Given the description of an element on the screen output the (x, y) to click on. 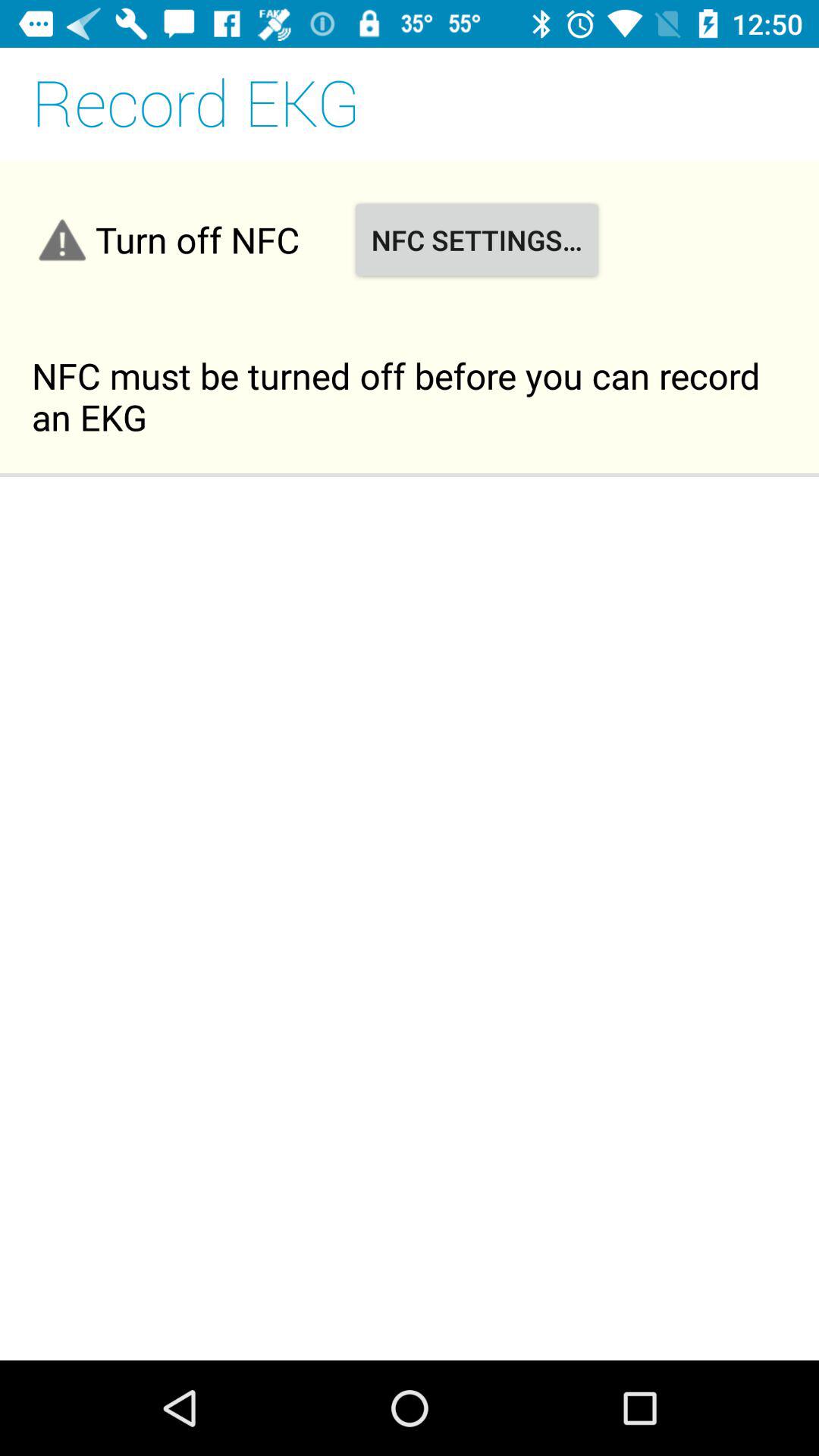
select the icon below the record ekg icon (476, 239)
